Given the description of an element on the screen output the (x, y) to click on. 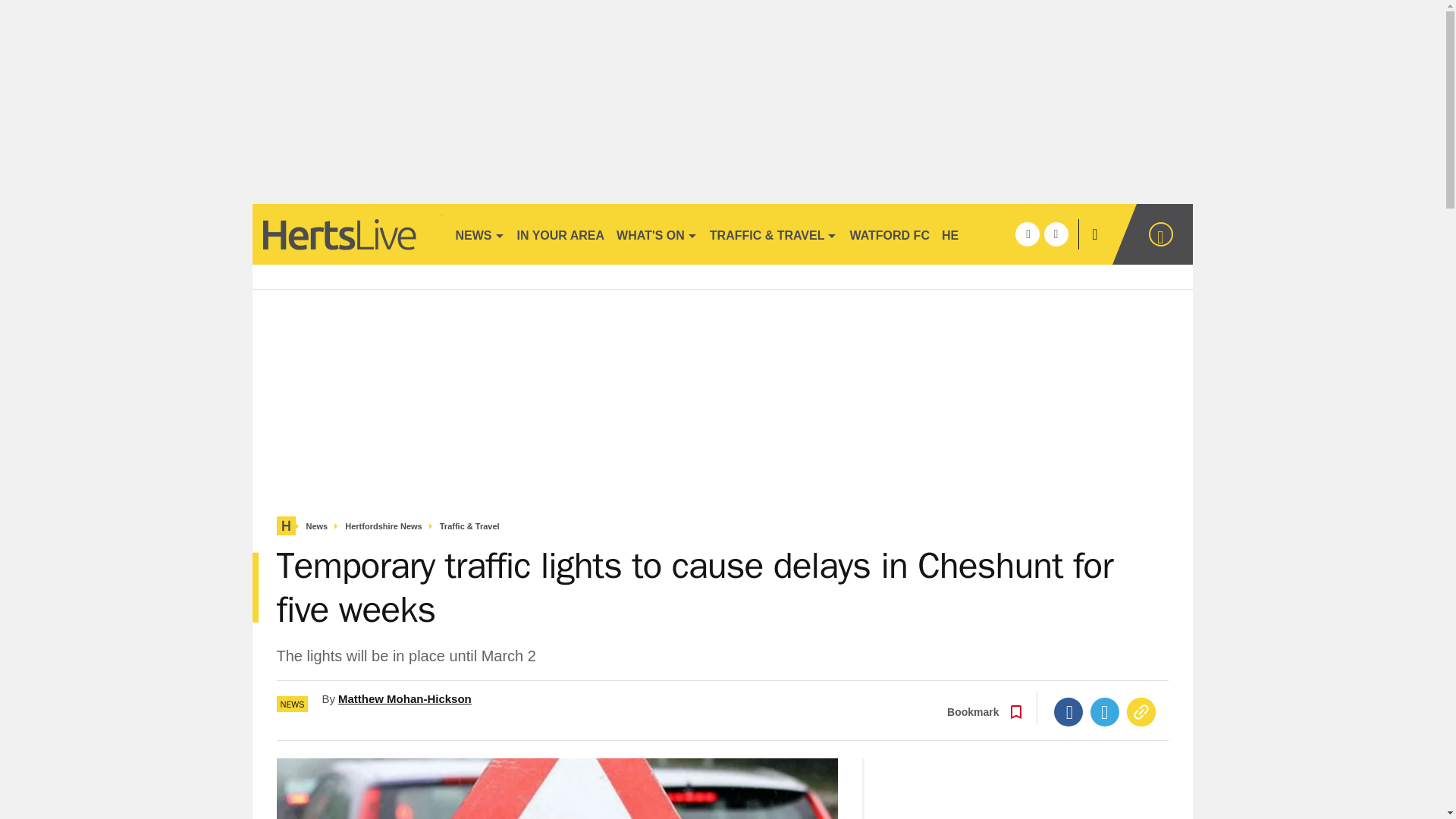
NEWS (479, 233)
facebook (1026, 233)
Twitter (1104, 711)
HEMEL HEMPSTEAD (1003, 233)
WATFORD FC (888, 233)
Facebook (1068, 711)
twitter (1055, 233)
hertfordshiremercury (346, 233)
WHAT'S ON (656, 233)
IN YOUR AREA (561, 233)
